Given the description of an element on the screen output the (x, y) to click on. 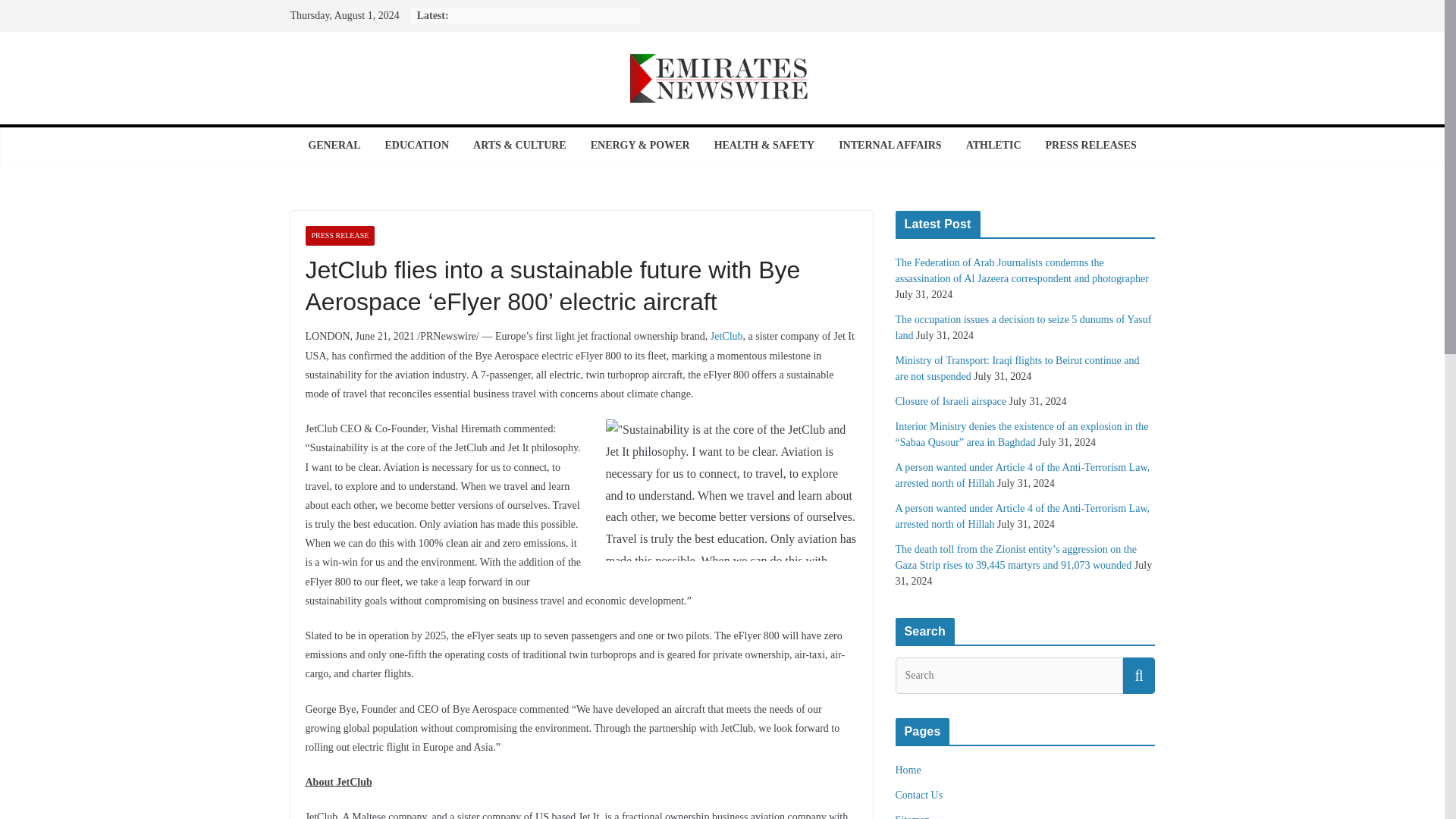
GENERAL (333, 146)
Contact Us (918, 794)
Sitemap (912, 816)
PRESS RELEASE (339, 235)
PRESS RELEASES (1091, 146)
EDUCATION (416, 146)
JetClub (726, 336)
Closure of Israeli airspace (950, 401)
ATHLETIC (994, 146)
Home (907, 769)
